Given the description of an element on the screen output the (x, y) to click on. 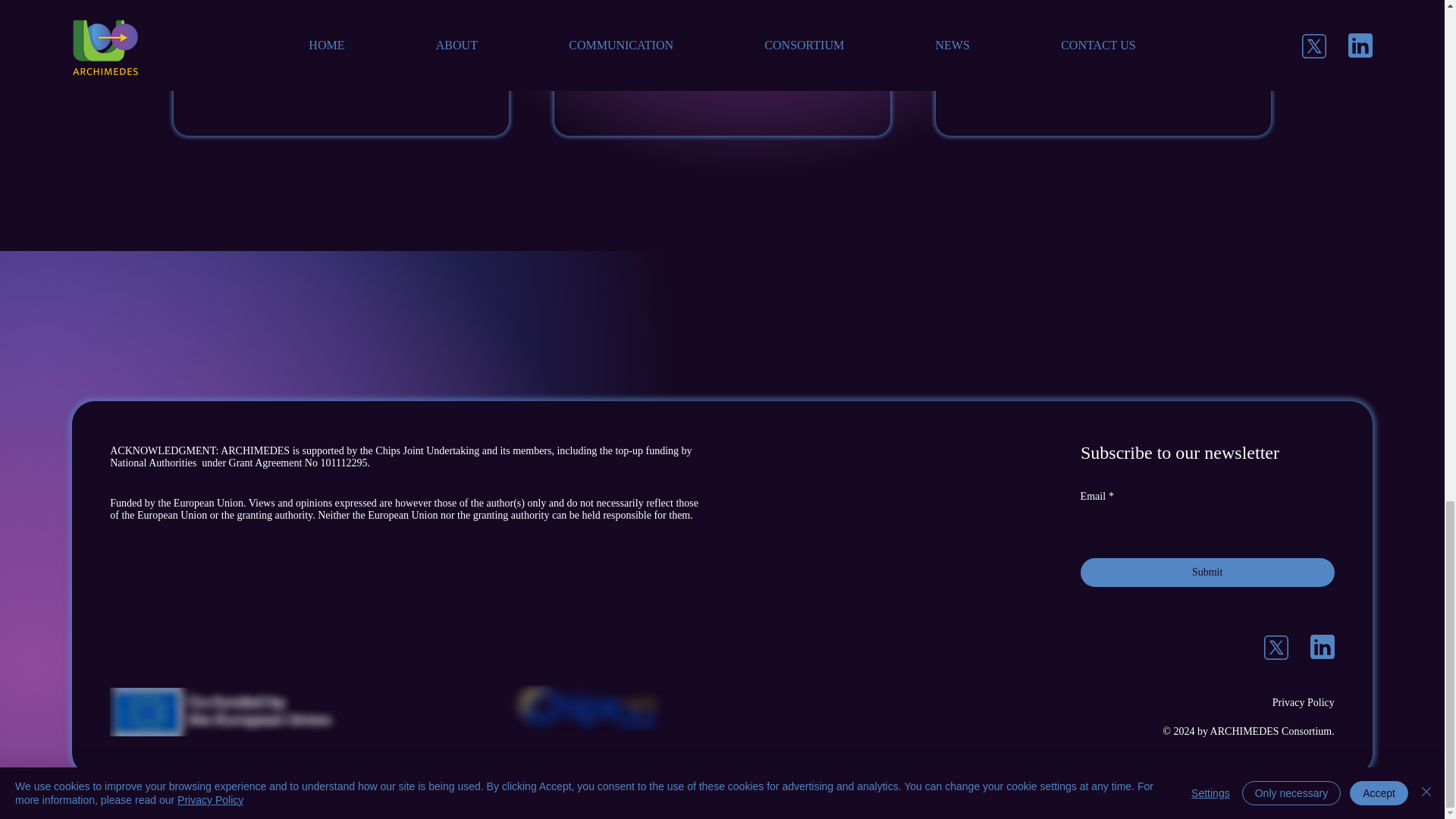
Submit (1207, 571)
Privacy Policy (1303, 702)
